Given the description of an element on the screen output the (x, y) to click on. 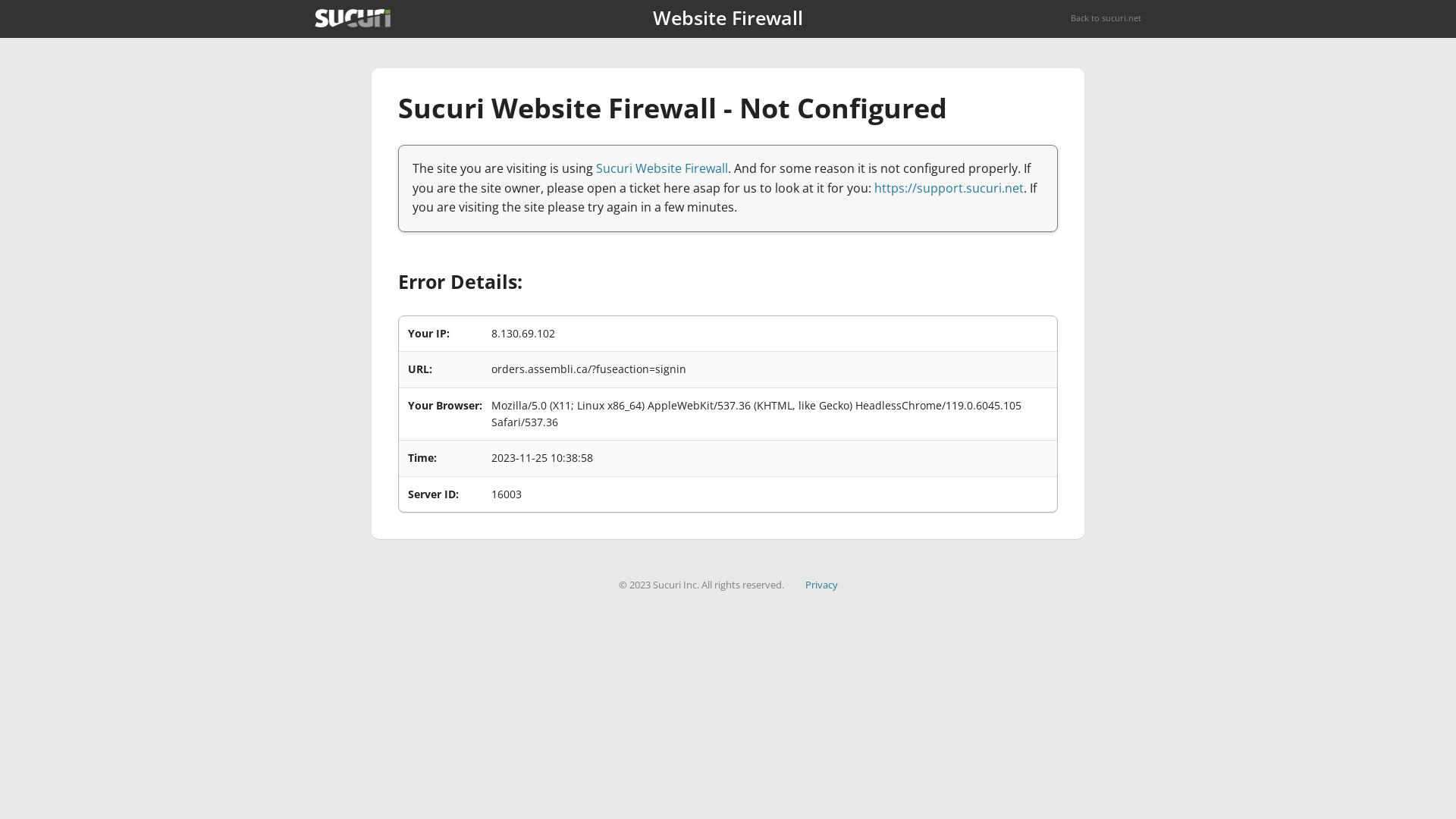
https://support.sucuri.net Element type: text (948, 187)
Privacy Element type: text (821, 584)
Sucuri Website Firewall Element type: text (662, 168)
Back to sucuri.net Element type: text (1105, 18)
